Given the description of an element on the screen output the (x, y) to click on. 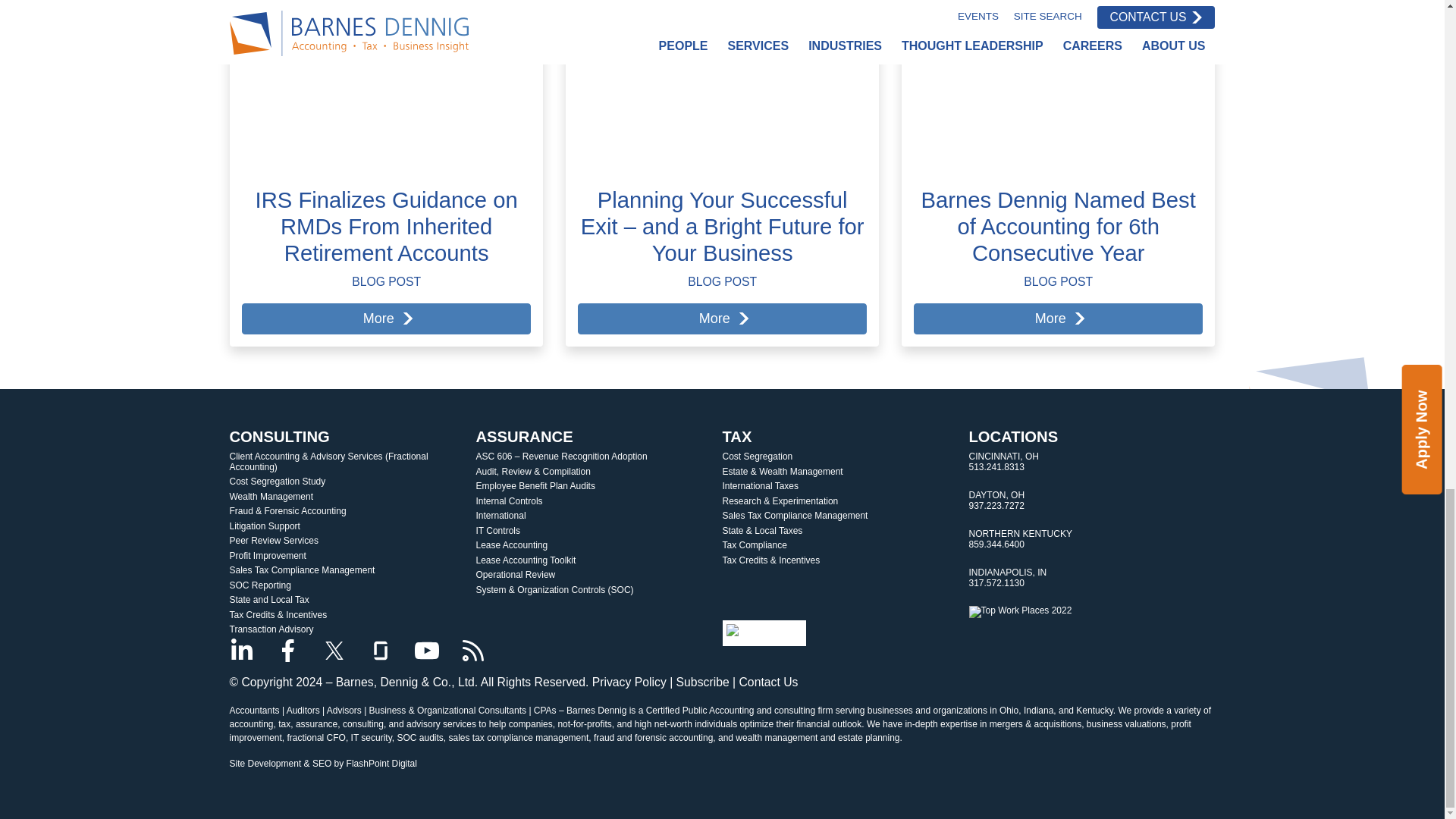
YouTube (426, 650)
LinkedIn (240, 650)
Facebook (287, 650)
